Given the description of an element on the screen output the (x, y) to click on. 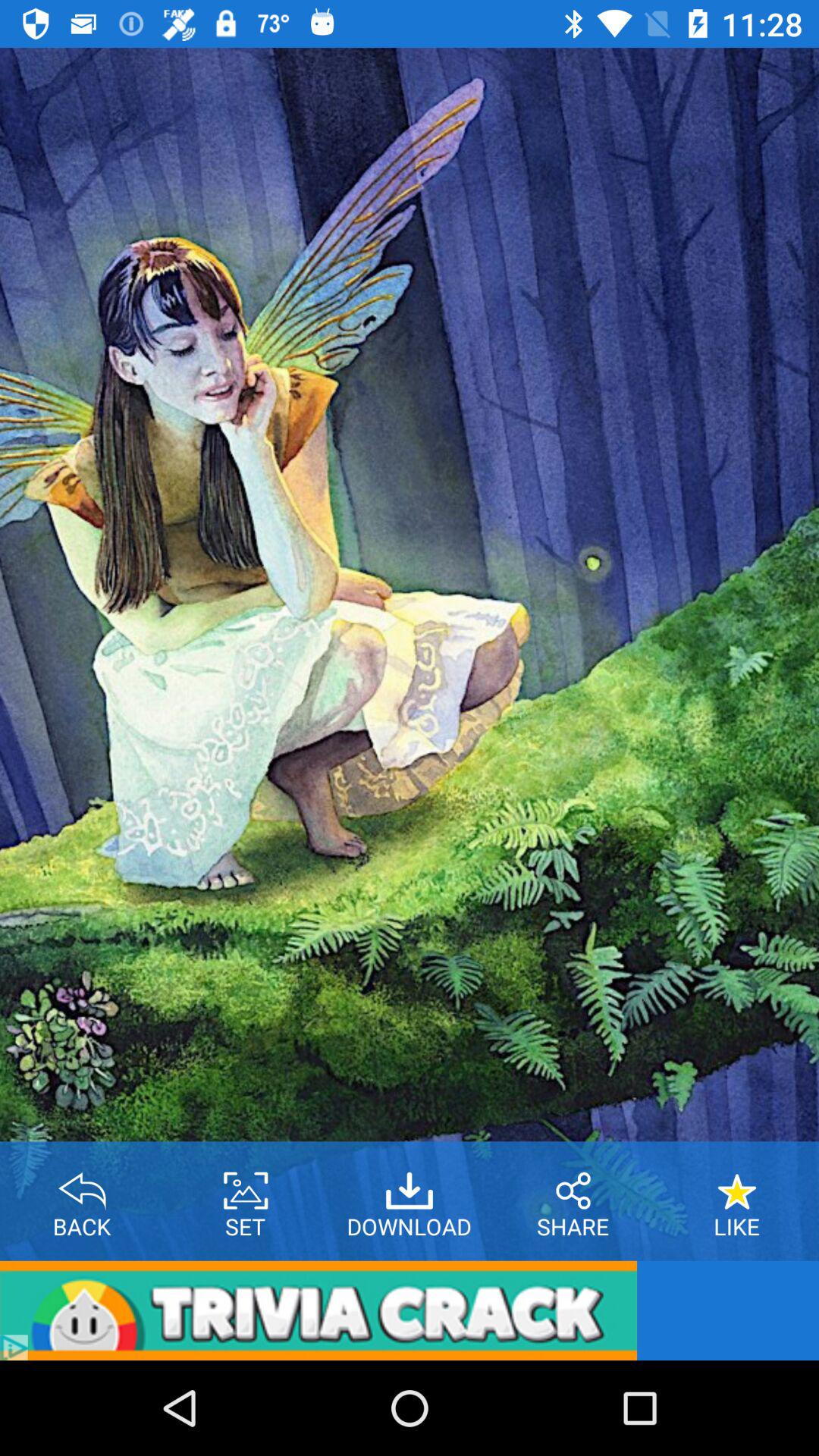
download (409, 1185)
